Given the description of an element on the screen output the (x, y) to click on. 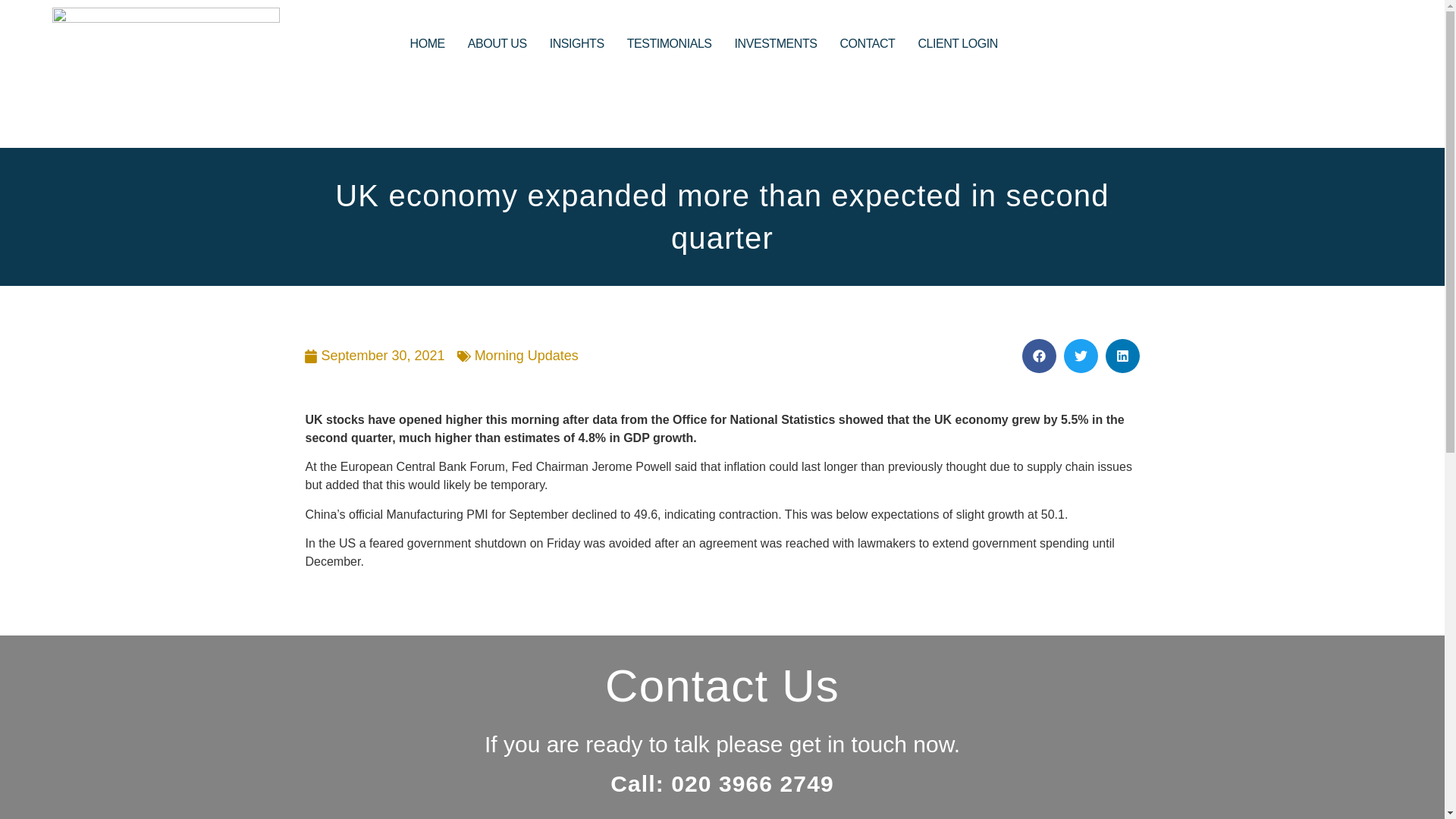
HOME (427, 43)
CONTACT (866, 43)
TESTIMONIALS (669, 43)
INVESTMENTS (775, 43)
INSIGHTS (576, 43)
ABOUT US (497, 43)
CLIENT LOGIN (957, 43)
